Given the description of an element on the screen output the (x, y) to click on. 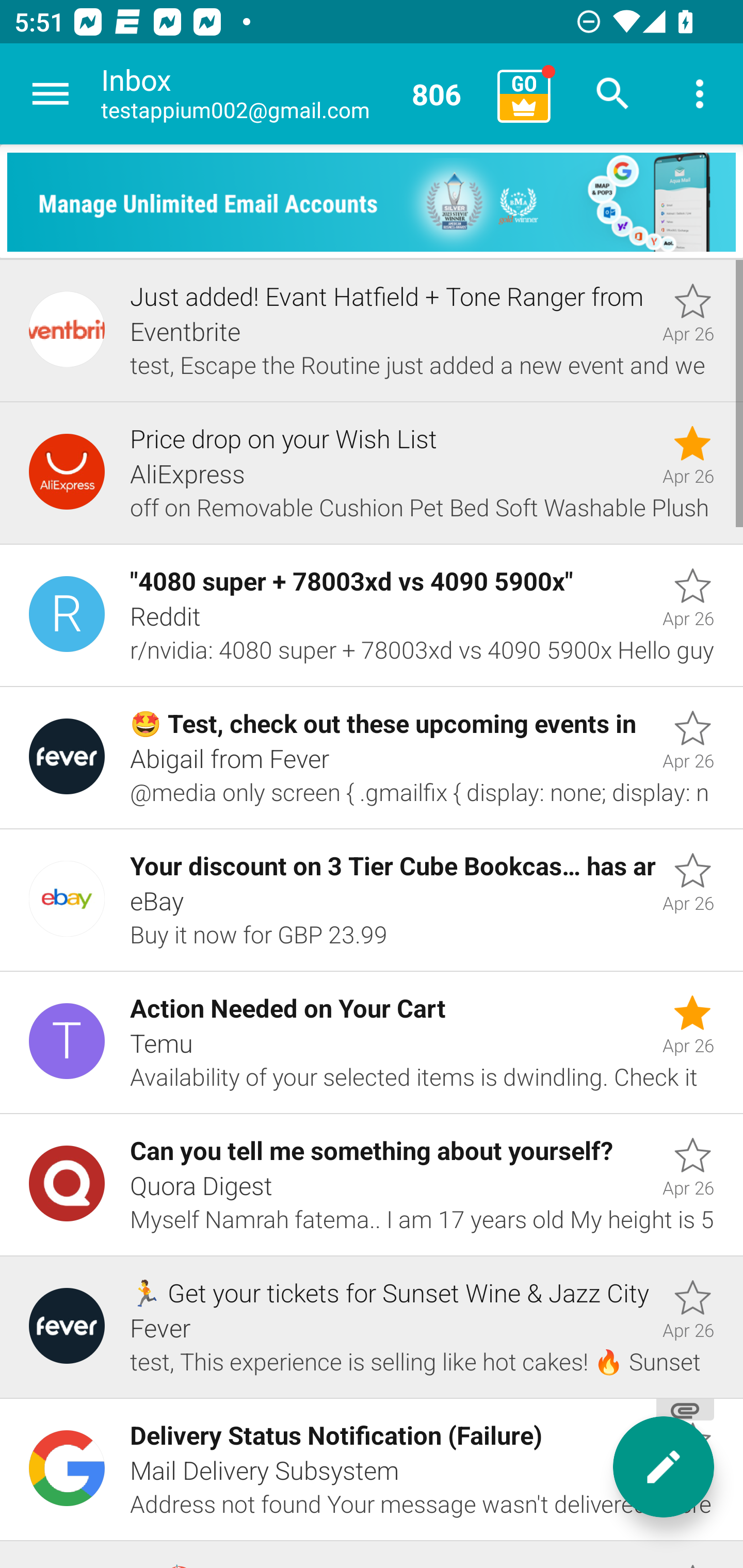
Navigate up (50, 93)
Inbox testappium002@gmail.com 806 (291, 93)
Search (612, 93)
More options (699, 93)
New message (663, 1466)
